Given the description of an element on the screen output the (x, y) to click on. 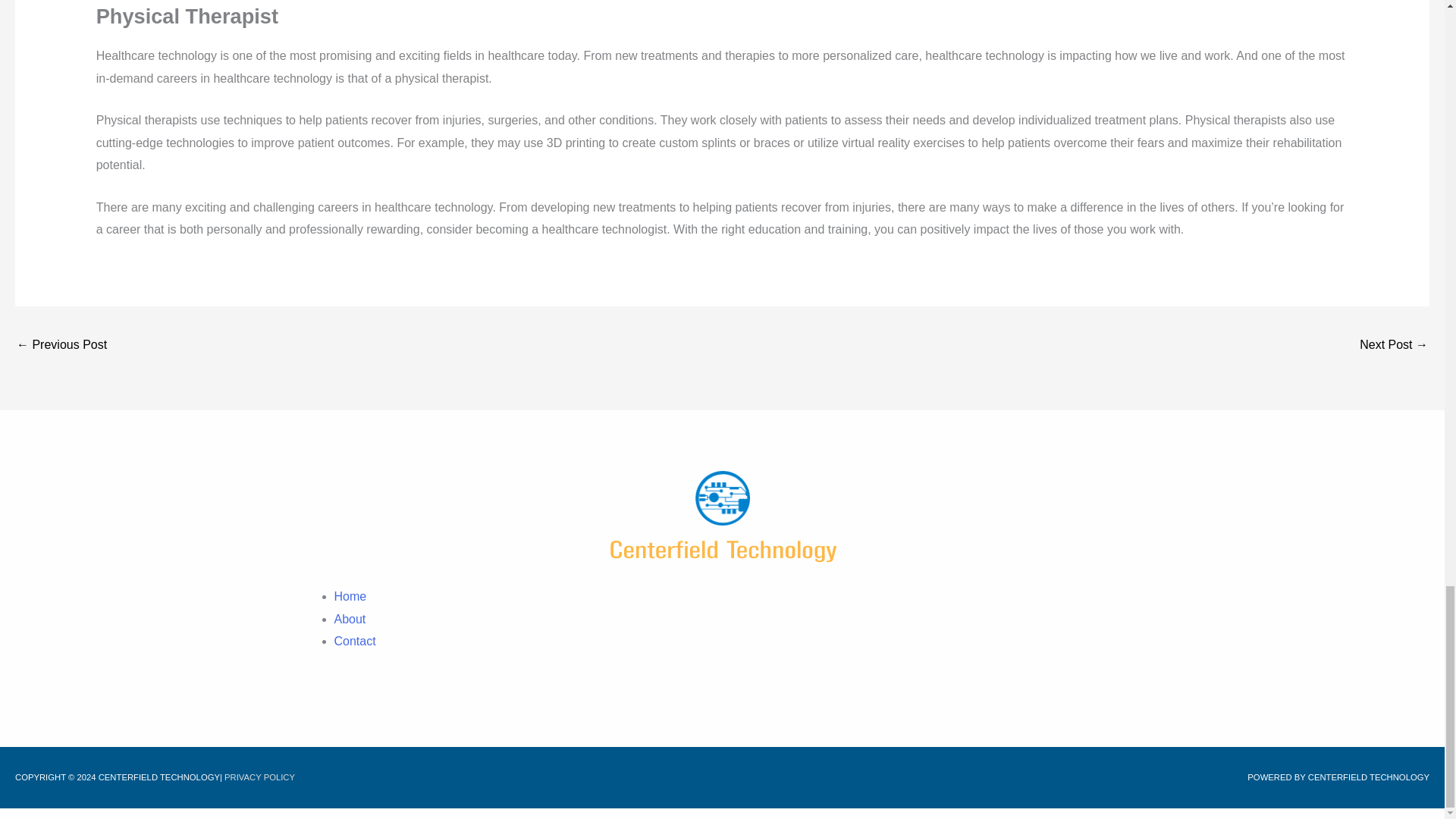
Home (349, 595)
Contact (354, 640)
PRIVACY POLICY (258, 777)
Top Reasons Why Technology Is Important in Business (1393, 346)
About (349, 618)
